Given the description of an element on the screen output the (x, y) to click on. 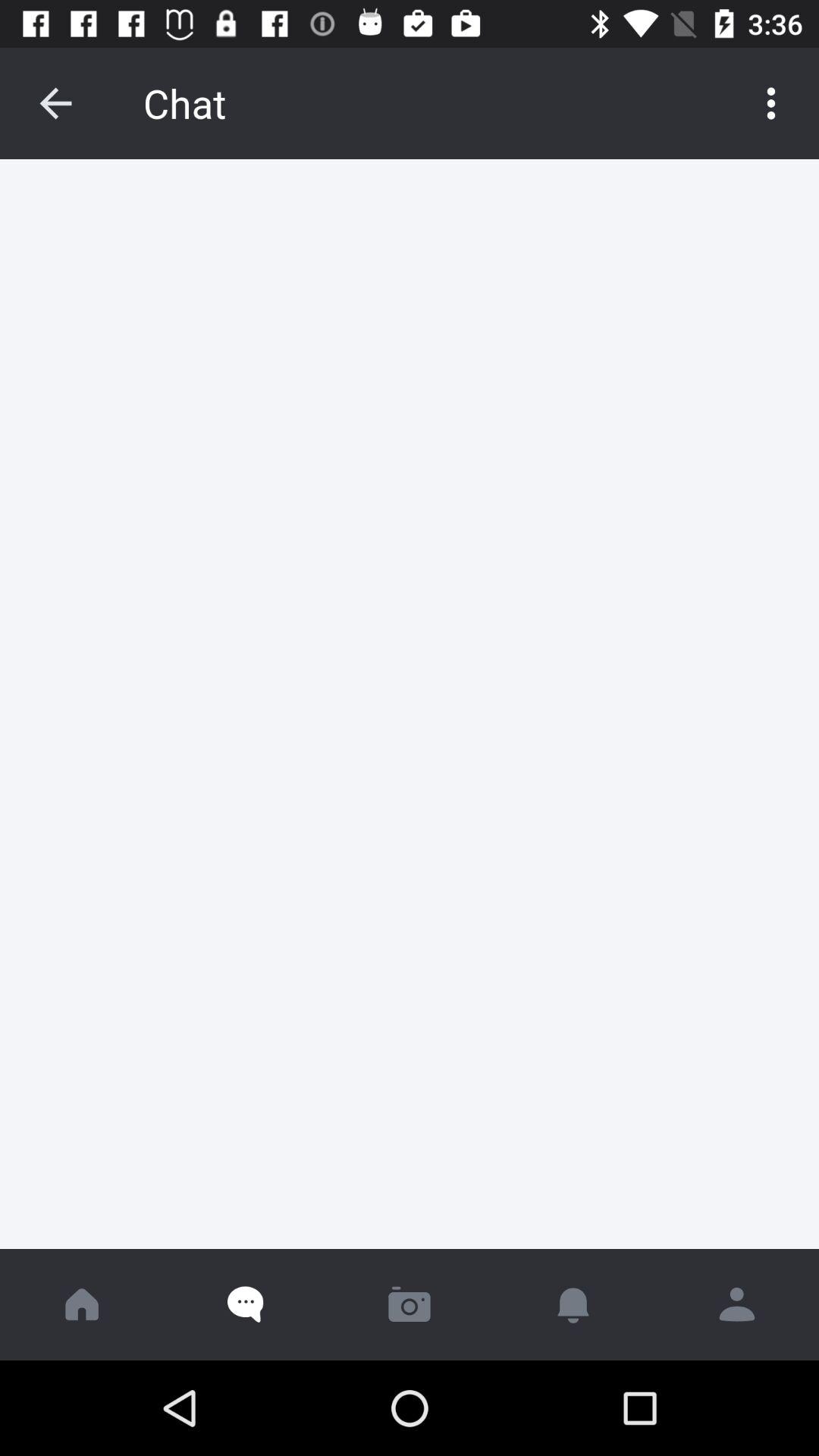
camara (409, 1304)
